Given the description of an element on the screen output the (x, y) to click on. 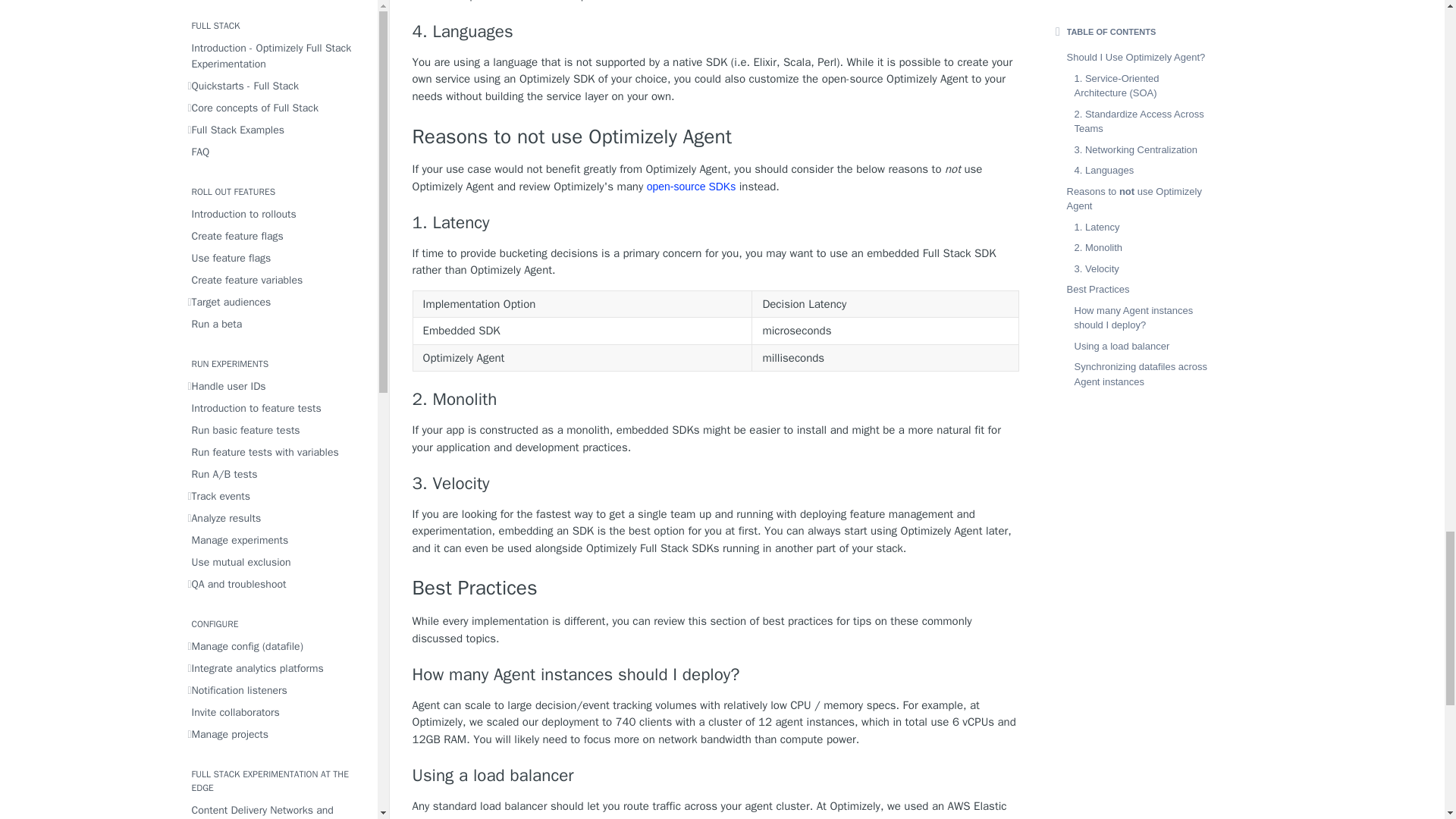
Using a load balancer (715, 775)
Reasons to not use Optimizely Agent (715, 137)
2. Monolith (715, 399)
1. Latency (715, 222)
How many Agent instances should I deploy? (715, 674)
4. Languages (715, 31)
3. Velocity (715, 483)
Best Practices (715, 588)
